Given the description of an element on the screen output the (x, y) to click on. 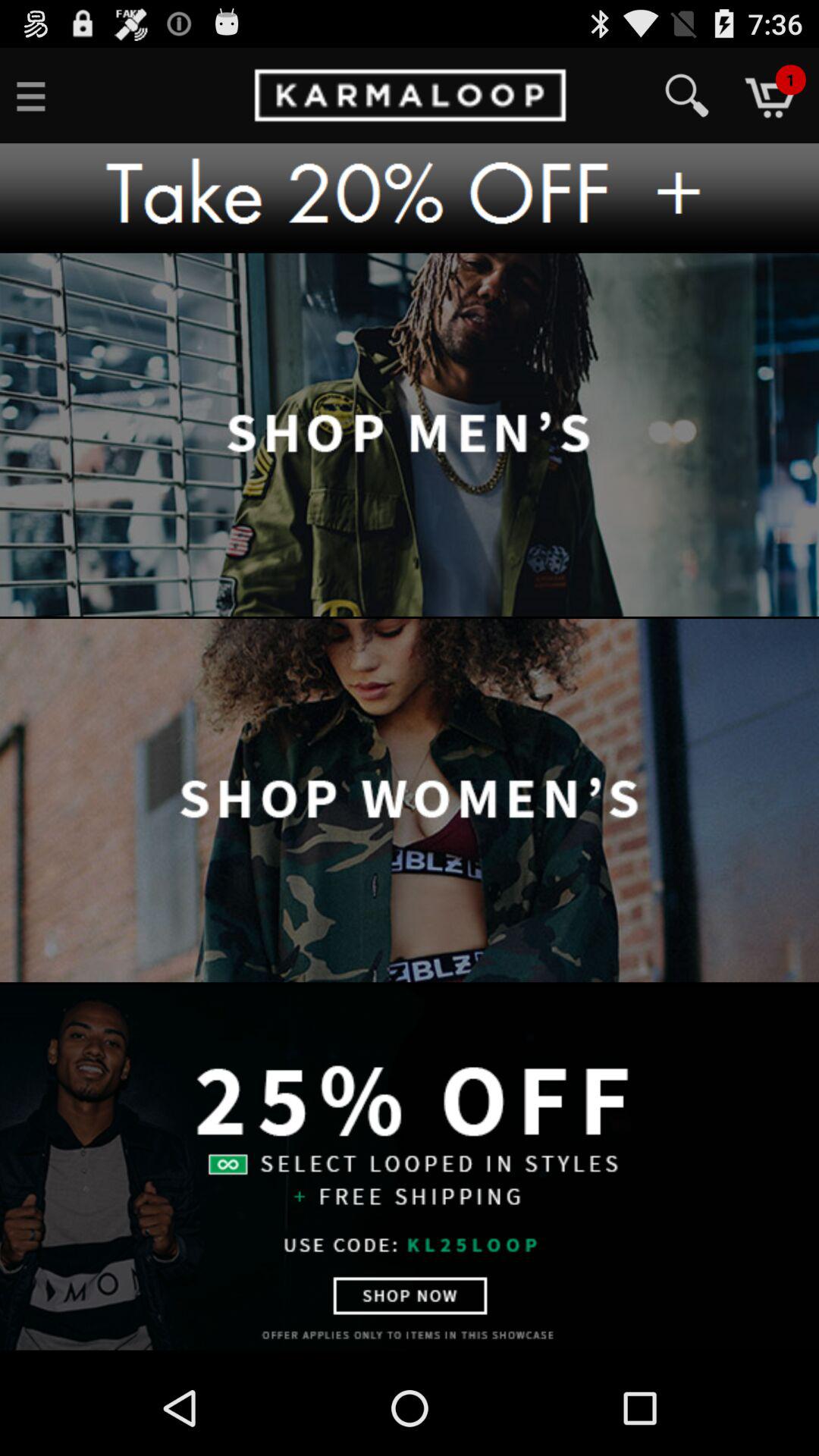
open discount catalog (409, 1167)
